Given the description of an element on the screen output the (x, y) to click on. 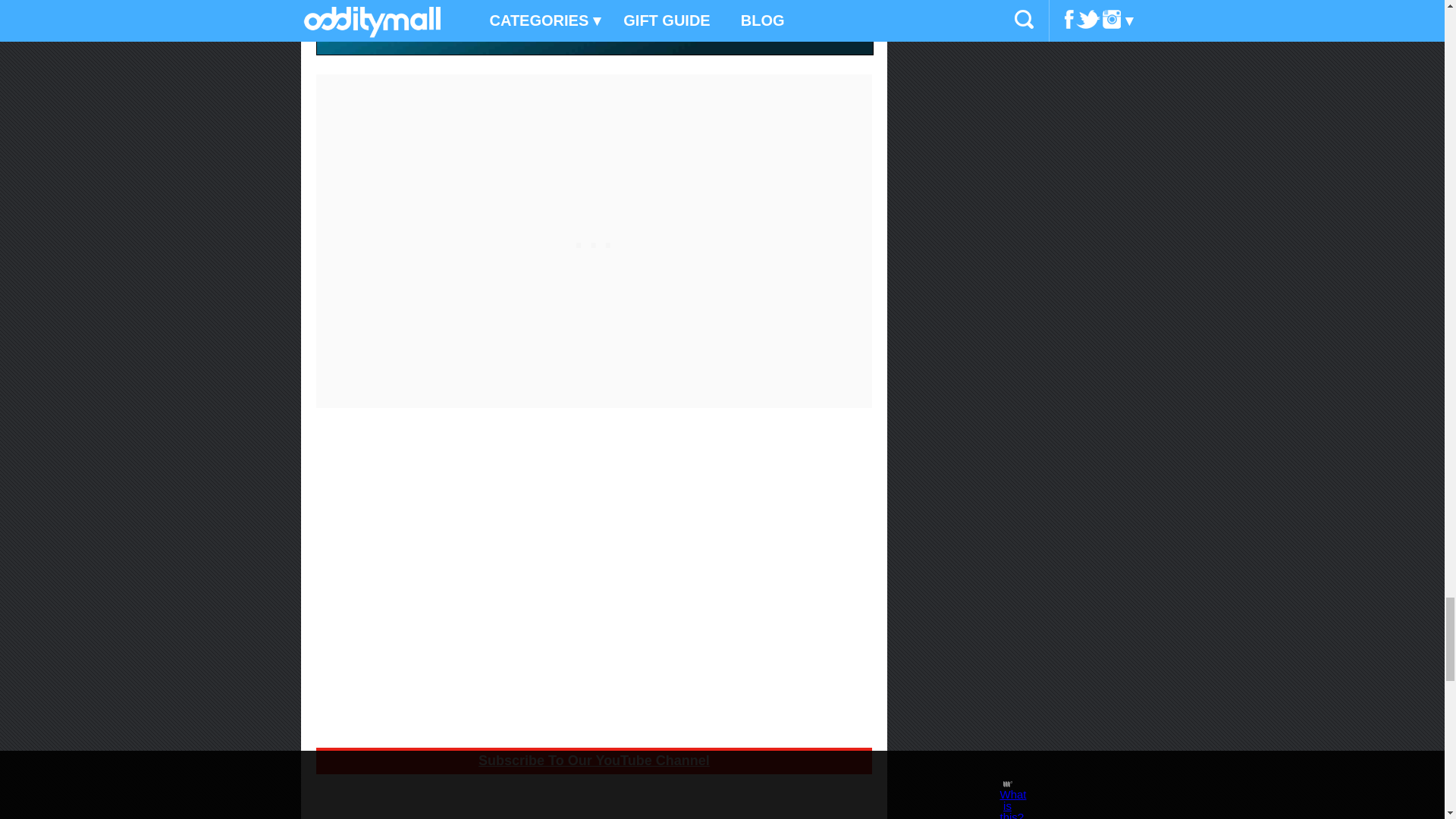
Subscribe To Our YouTube Channel (593, 760)
